Given the description of an element on the screen output the (x, y) to click on. 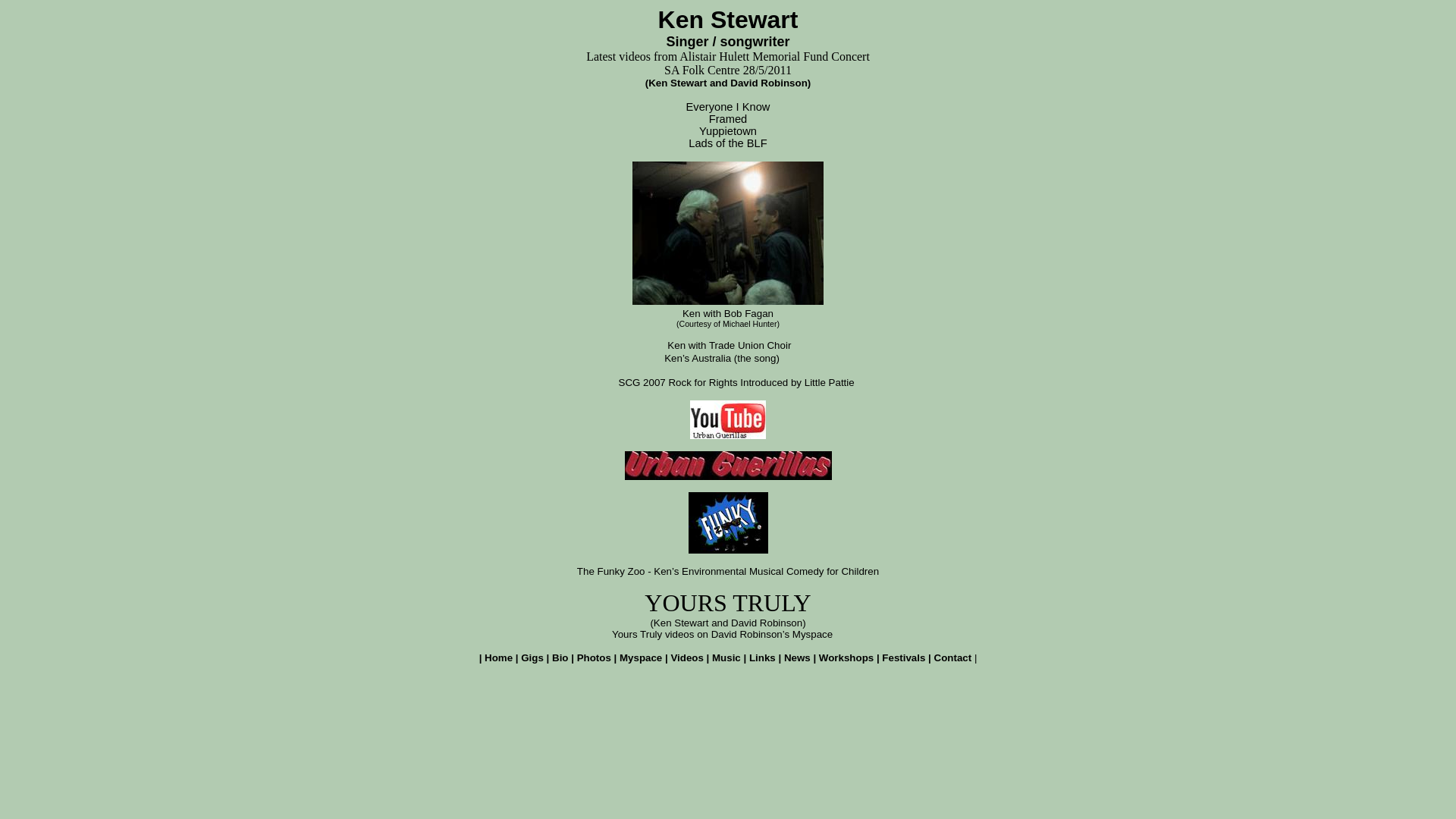
Workshops | Element type: text (850, 657)
Home Element type: text (498, 657)
SCG 2007 Rock for Rights Element type: text (677, 382)
News Element type: text (797, 657)
Little Pattie Element type: text (829, 382)
Gigs Element type: text (531, 657)
Festivals Element type: text (903, 657)
Everyone I Know Element type: text (728, 106)
Australia (the song) Element type: text (735, 358)
Lads of the BLF Element type: text (727, 143)
Ken with Trade Union Choir Element type: text (728, 345)
Framed Element type: text (728, 118)
Myspace Element type: text (640, 657)
Music Element type: text (726, 657)
Photos Element type: text (594, 657)
Contact Element type: text (953, 657)
Yuppietown Element type: text (727, 131)
Links Element type: text (762, 657)
Videos Element type: text (686, 657)
Bio Element type: text (559, 657)
